Given the description of an element on the screen output the (x, y) to click on. 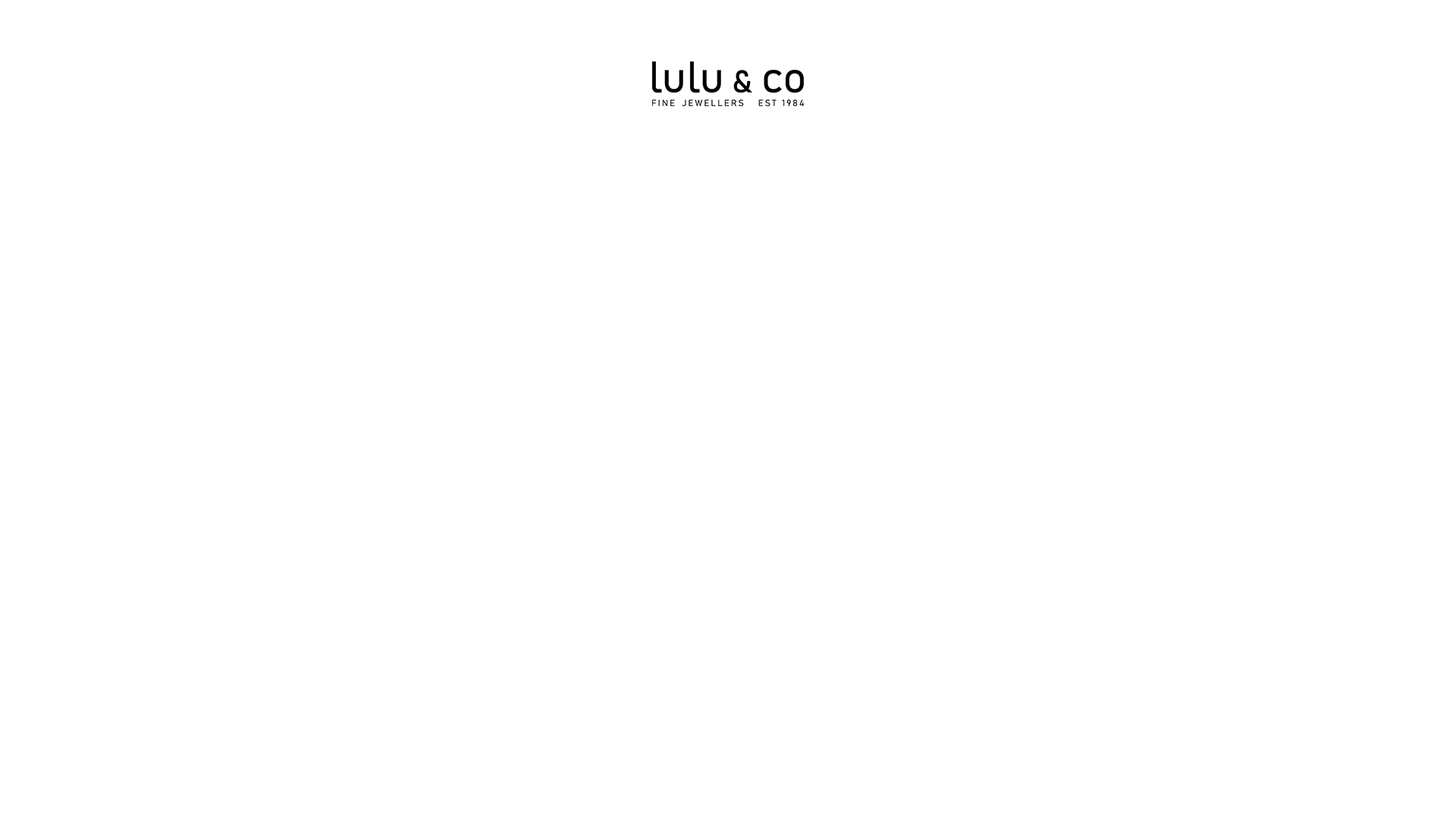
logo Element type: hover (727, 83)
